Given the description of an element on the screen output the (x, y) to click on. 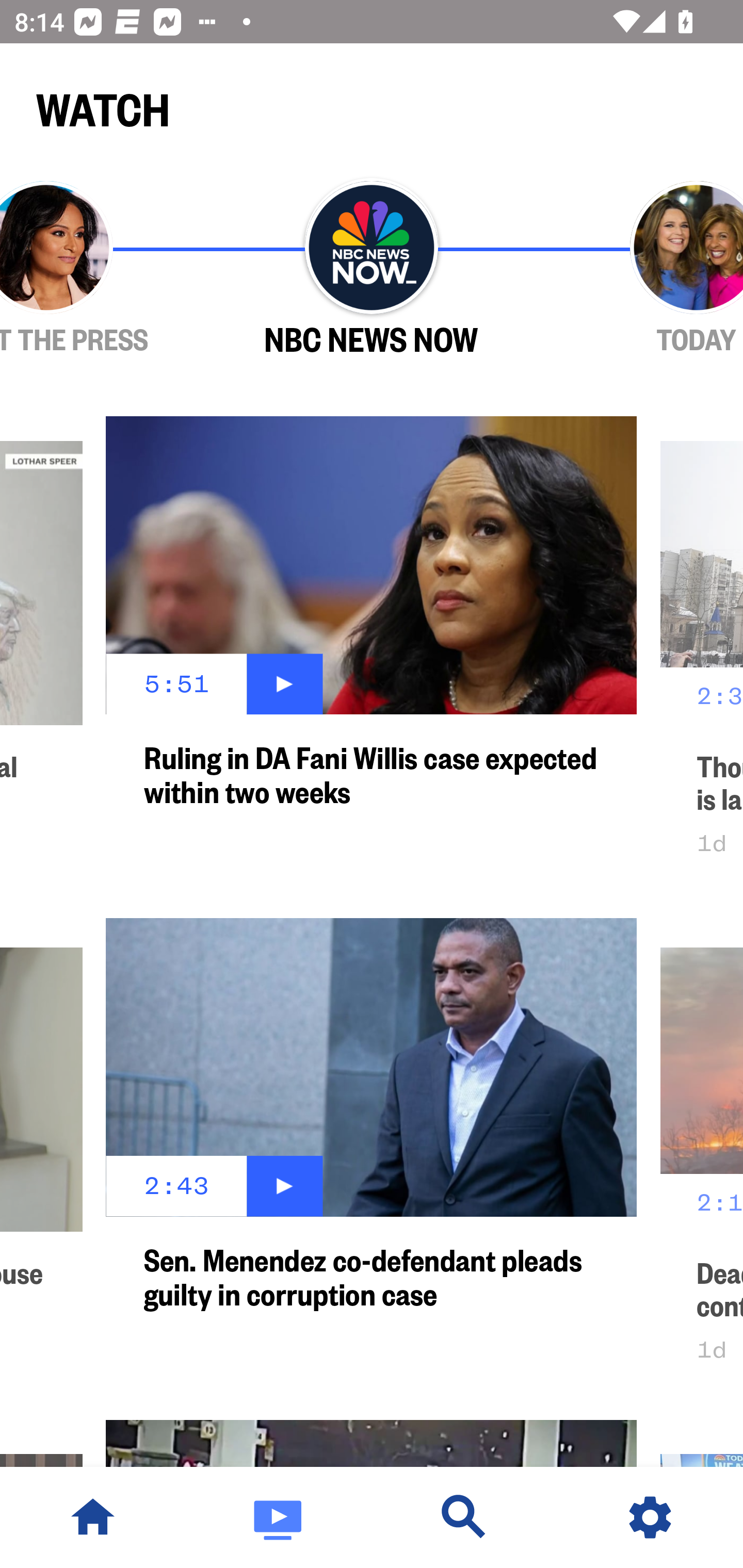
MEET THE PRESS (104, 268)
NBC NEWS NOW (371, 268)
TODAY (638, 268)
NBC News Home (92, 1517)
Discover (464, 1517)
Settings (650, 1517)
